Given the description of an element on the screen output the (x, y) to click on. 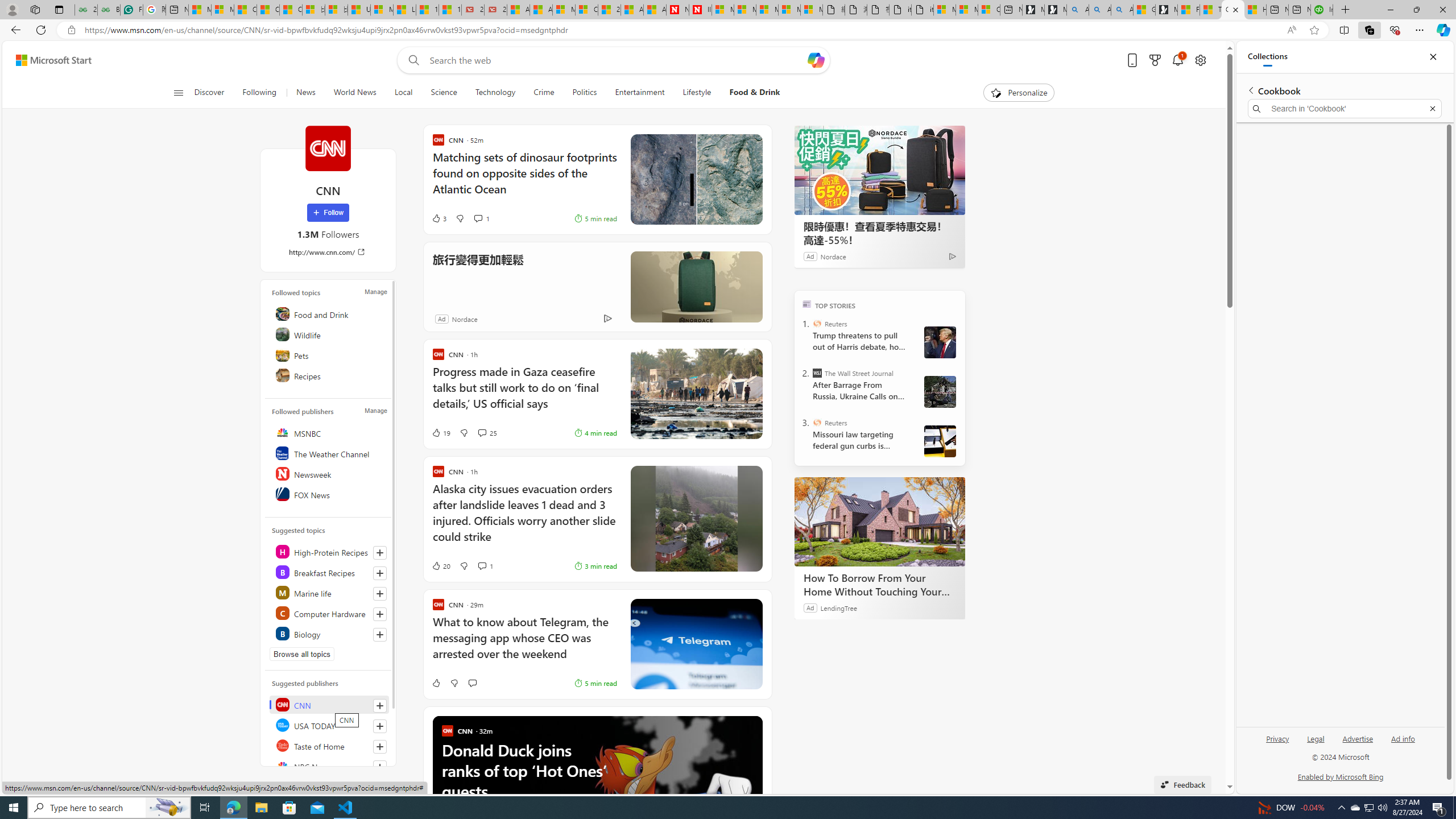
Food & Drink (750, 92)
The Weather Channel (328, 452)
Start the conversation (472, 682)
21 Movies That Outdid the Books They Were Based On (495, 9)
FOX News (328, 493)
Newsweek - News, Analysis, Politics, Business, Technology (677, 9)
Alabama high school quarterback dies - Search Videos (1122, 9)
Crime (543, 92)
CNN - MSN (1233, 9)
Taste of Home (328, 745)
20 Like (440, 565)
